Given the description of an element on the screen output the (x, y) to click on. 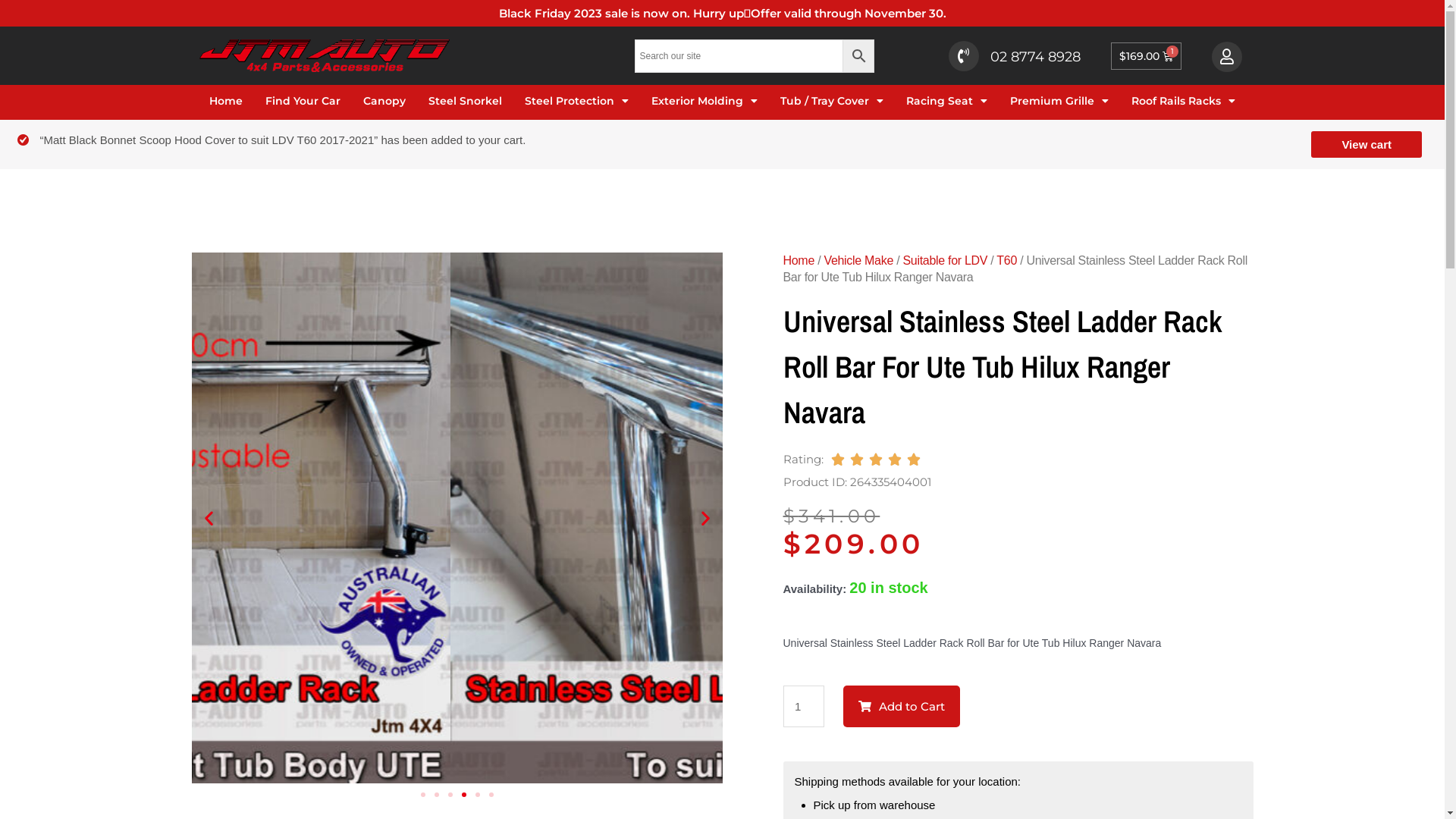
Steel Snorkel Element type: text (465, 100)
Racing Seat Element type: text (946, 100)
Add to Cart Element type: text (901, 706)
Suitable for LDV Element type: text (944, 260)
Steel Protection Element type: text (576, 100)
Exterior Molding Element type: text (704, 100)
Home Element type: text (797, 260)
T60 Element type: text (1006, 260)
View cart Element type: text (1366, 144)
Canopy Element type: text (384, 100)
Roof Rails Racks Element type: text (1183, 100)
Premium Grille Element type: text (1059, 100)
Home Element type: text (225, 100)
Vehicle Make Element type: text (858, 260)
Tub / Tray Cover Element type: text (831, 100)
$169.00
1
Cart Element type: text (1145, 55)
Find Your Car Element type: text (302, 100)
